Given the description of an element on the screen output the (x, y) to click on. 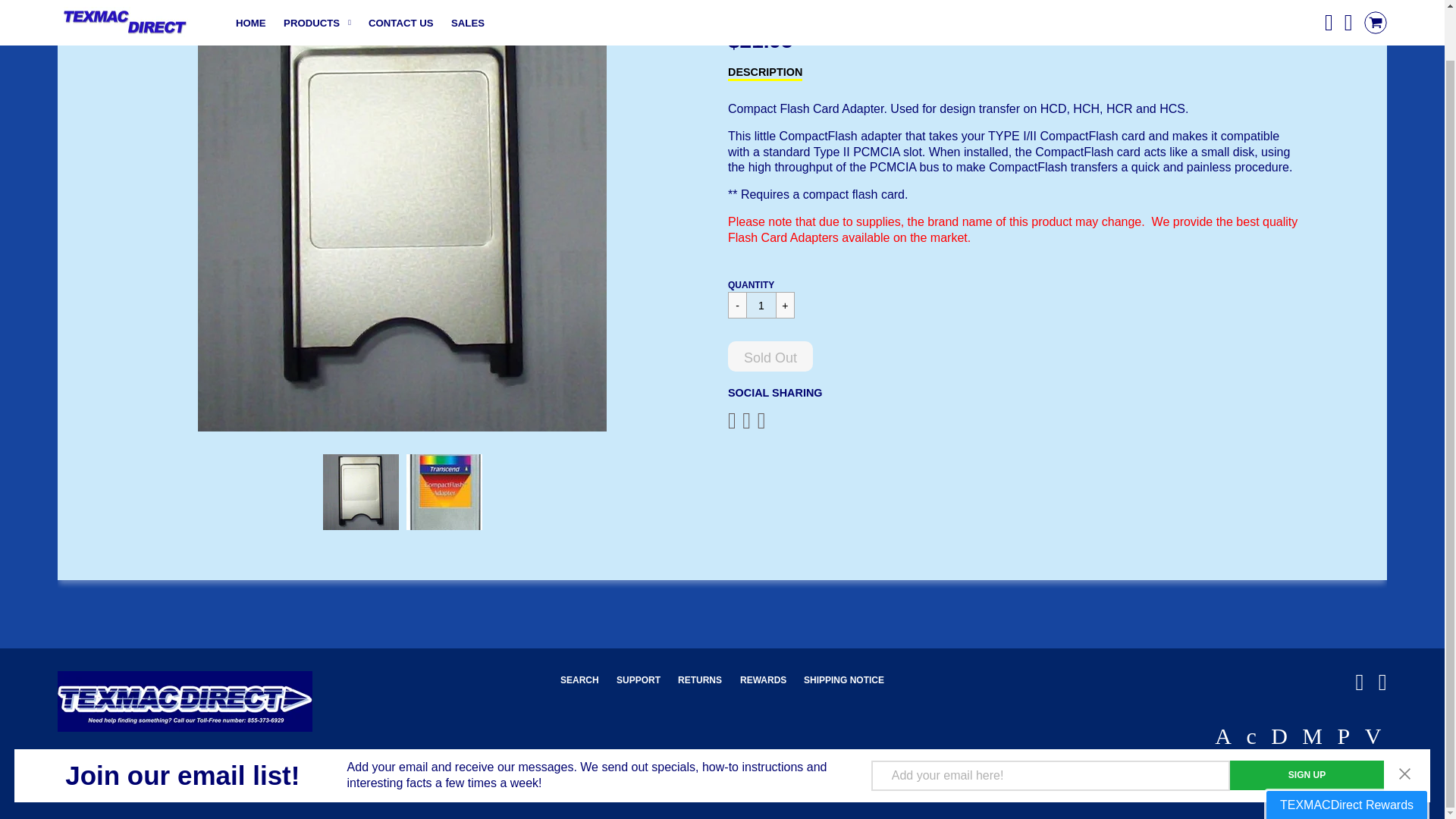
1 (760, 304)
TrailblazeMedia.com (700, 771)
SOLD-OUT (112, 9)
- (737, 304)
TEXMACDirect on Facebook (1358, 685)
Share on Facebook (735, 420)
Tweet on Twitter (749, 420)
Pin on Pinterest (761, 420)
TEXMACDirect on YouTube (1382, 685)
